Given the description of an element on the screen output the (x, y) to click on. 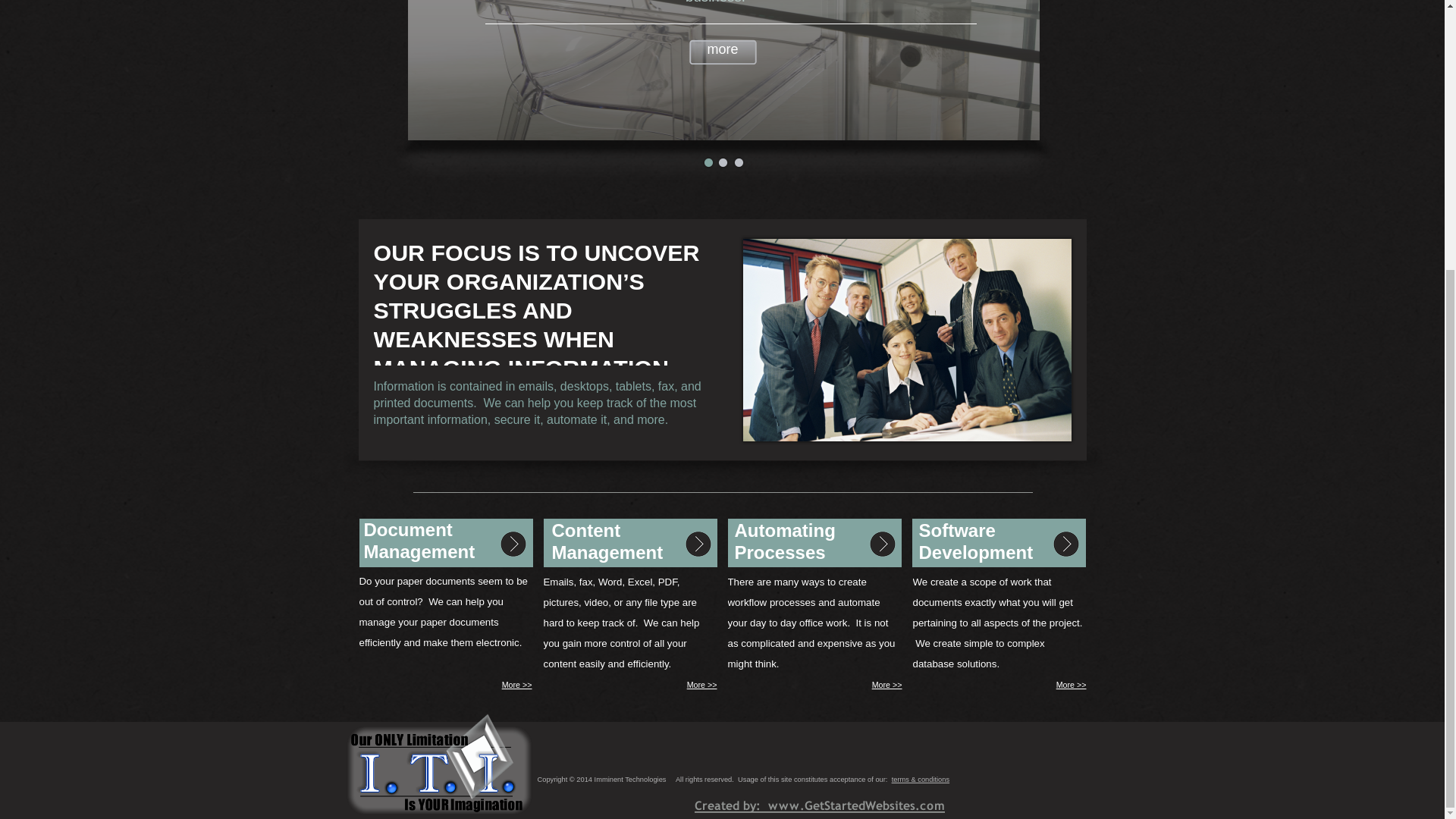
more (722, 52)
